Given the description of an element on the screen output the (x, y) to click on. 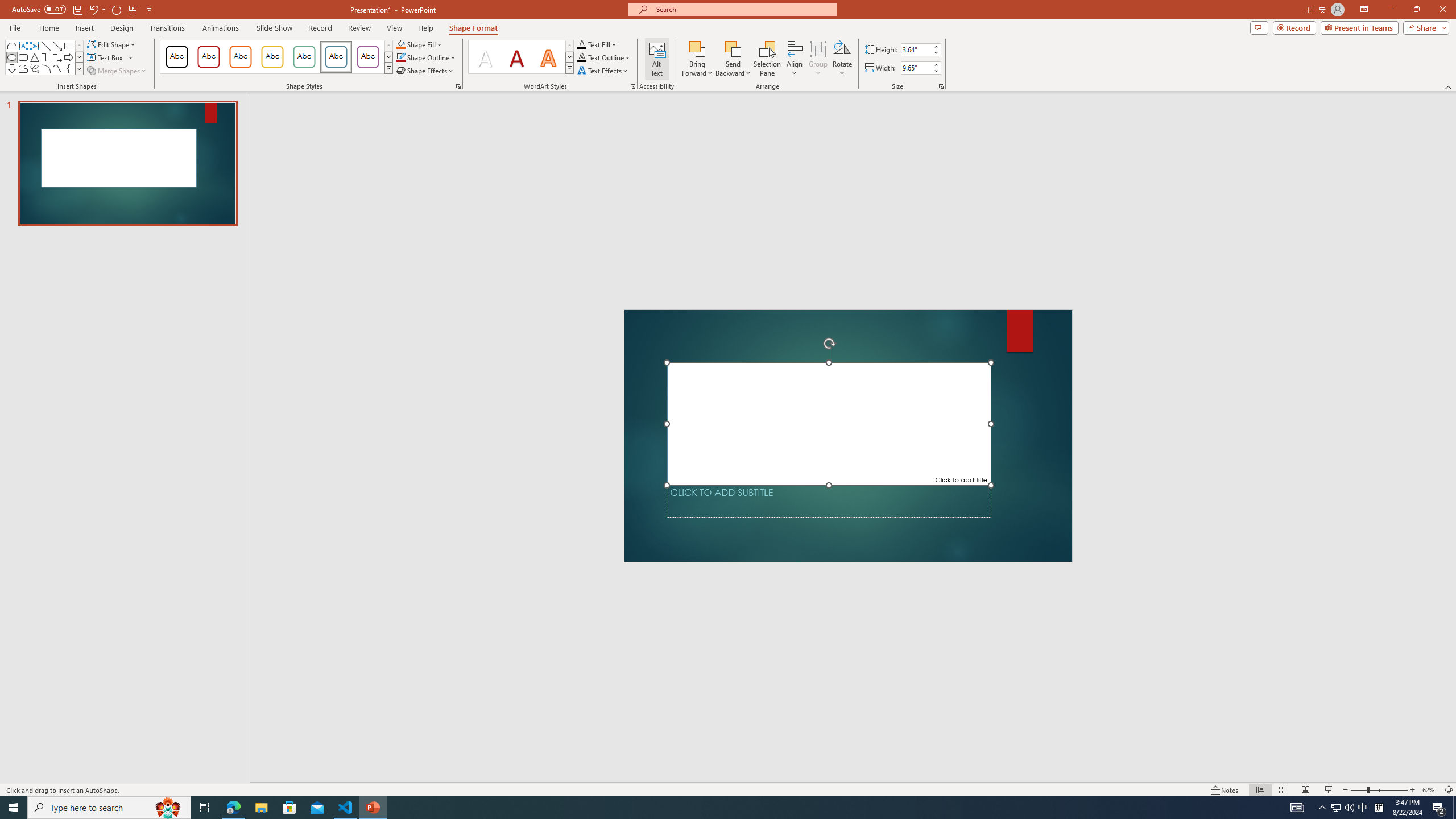
AutomationID: ShapeStylesGallery (276, 56)
Format Text Effects... (632, 85)
Align (794, 58)
Colored Outline - Orange, Accent 2 (240, 56)
Shape Width (915, 67)
Isosceles Triangle (34, 57)
Rectangle (68, 45)
Title TextBox (828, 423)
Colored Outline - Blue-Gray, Accent 5 (336, 56)
Edit Shape (112, 44)
